Given the description of an element on the screen output the (x, y) to click on. 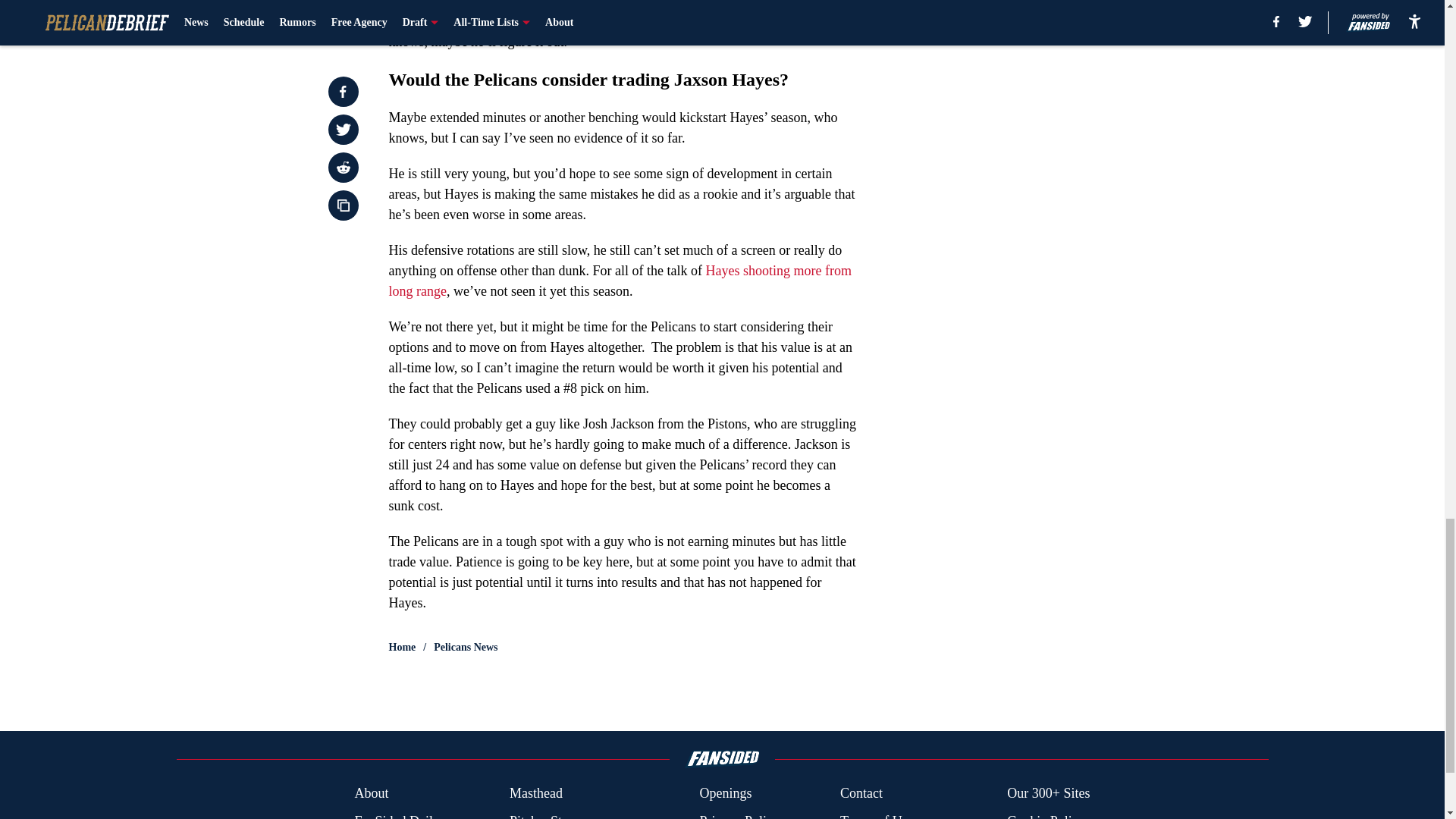
Home (401, 647)
Pitch a Story (544, 815)
Contact (861, 792)
Masthead (535, 792)
Hayes shooting more from long range (619, 280)
Openings (724, 792)
Pelicans News (465, 647)
FanSided Daily (396, 815)
About (370, 792)
Privacy Policy (738, 815)
